Given the description of an element on the screen output the (x, y) to click on. 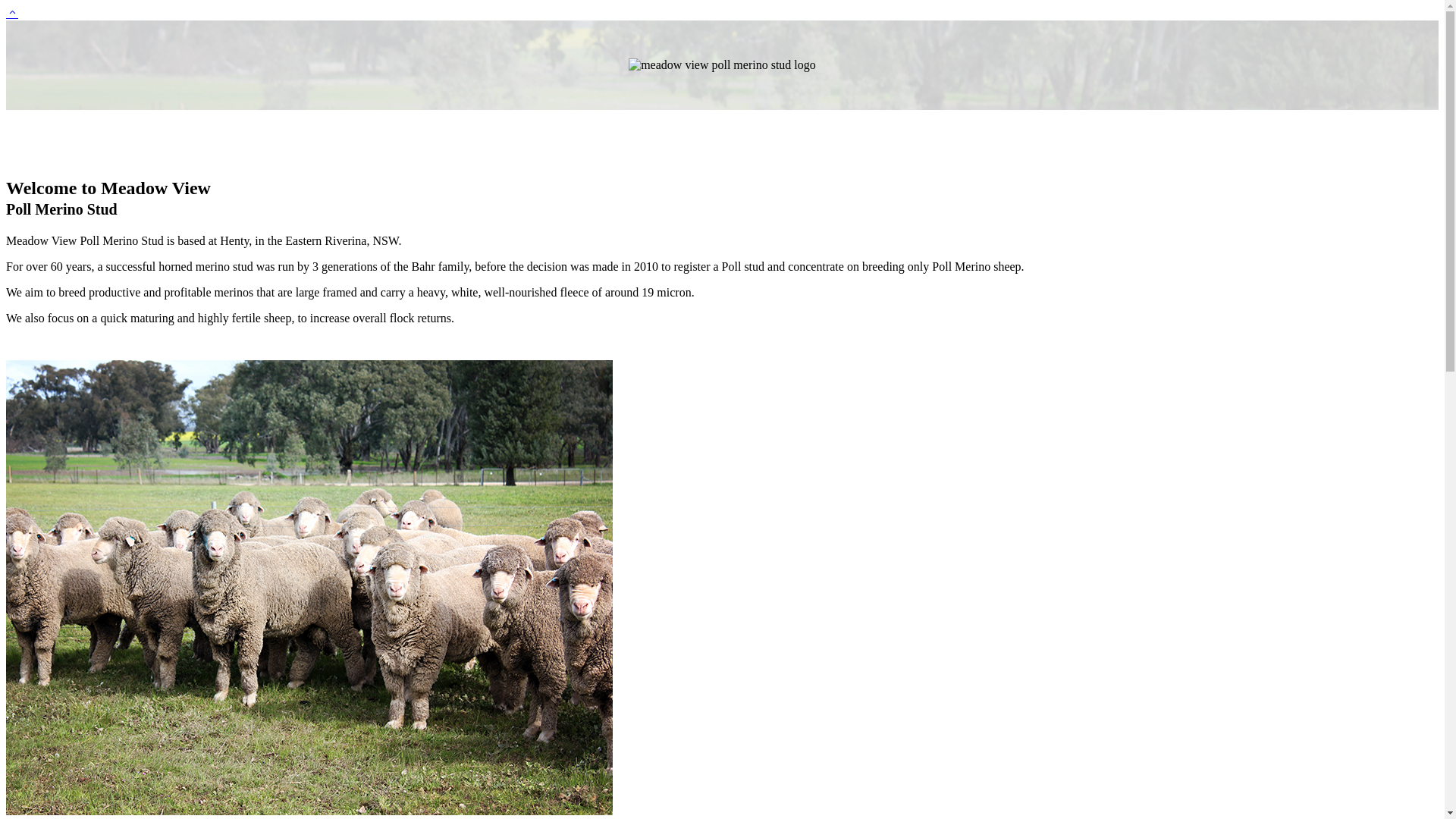
sheep-01 Element type: hover (309, 587)
meadow-view-poll-merino-stud-logo-large Element type: hover (721, 65)
